Given the description of an element on the screen output the (x, y) to click on. 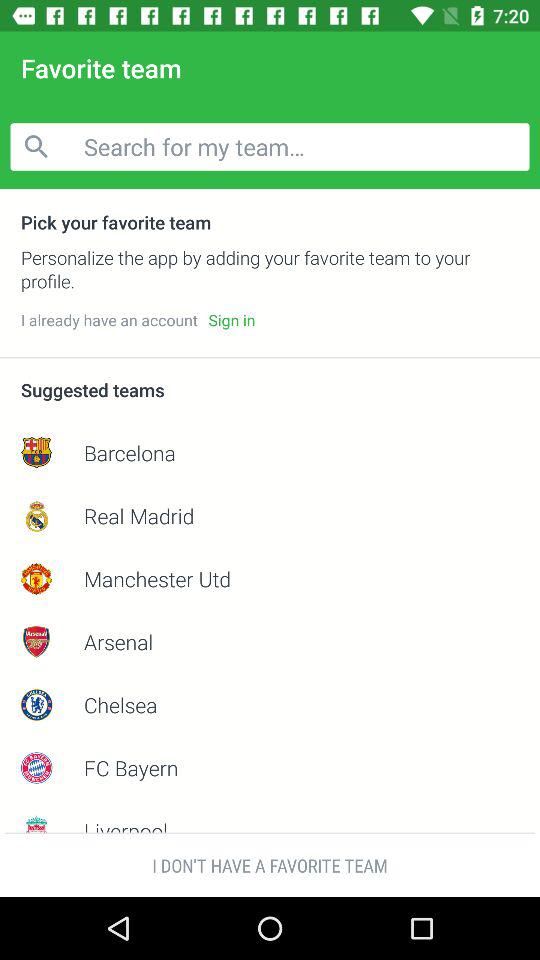
launch the icon above pick your favorite item (269, 146)
